Given the description of an element on the screen output the (x, y) to click on. 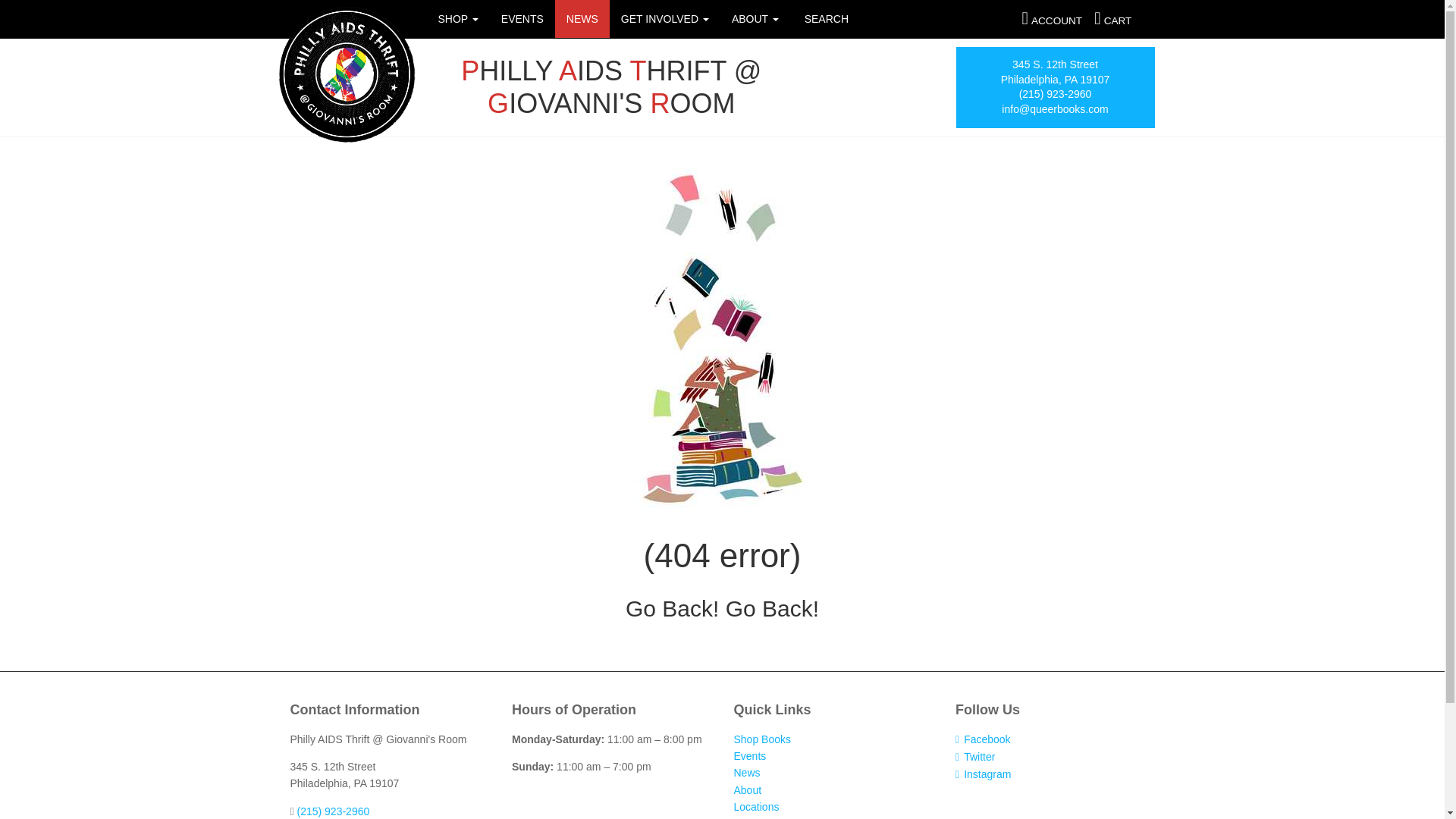
About (755, 18)
Locations (755, 806)
Facebook (982, 739)
About (747, 789)
Instagram (982, 774)
News (582, 18)
 SEARCH (825, 18)
Events (750, 756)
GET INVOLVED (665, 18)
ABOUT (755, 18)
